Given the description of an element on the screen output the (x, y) to click on. 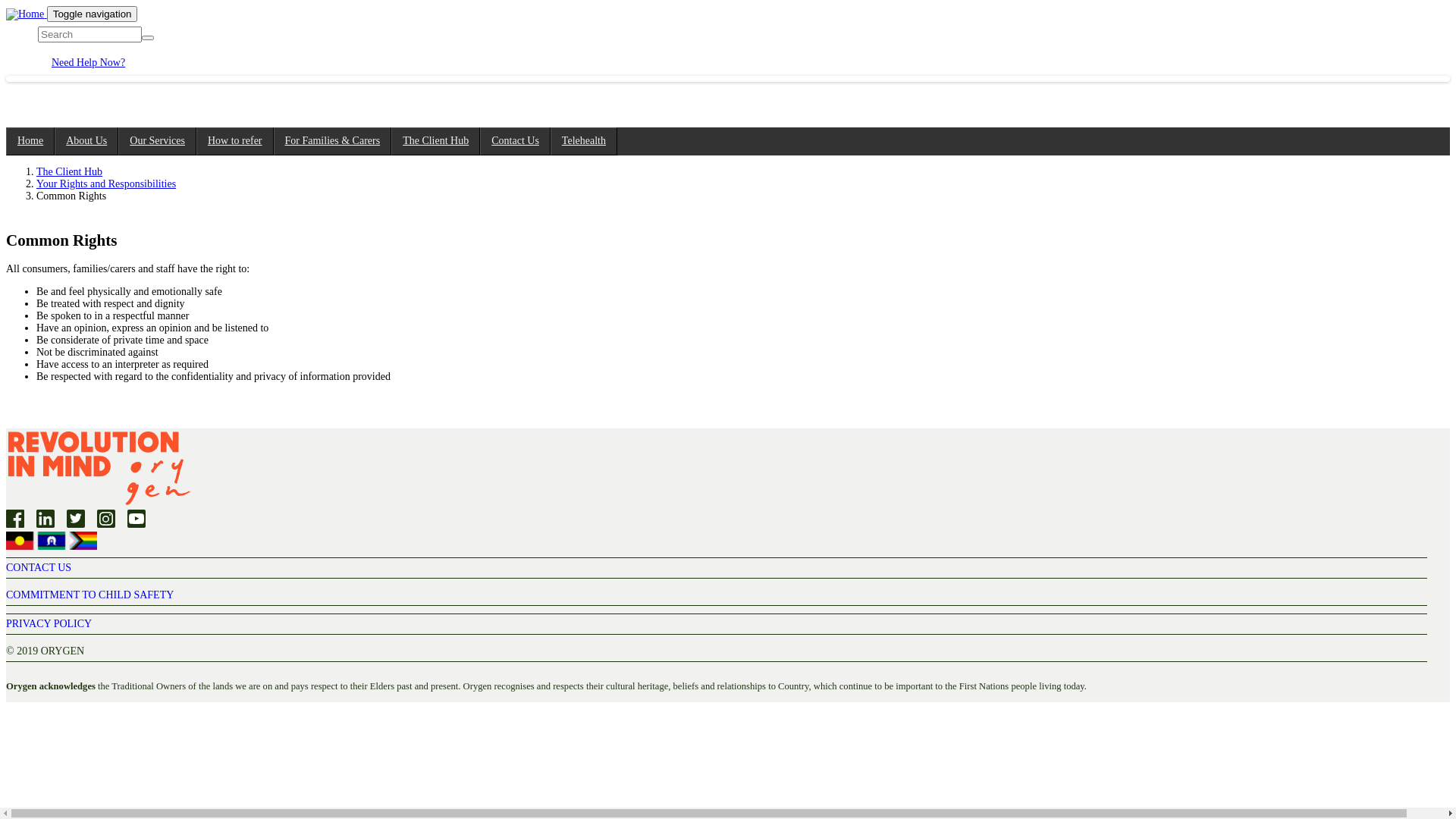
Our Services Element type: text (157, 141)
Toggle navigation Element type: text (92, 13)
How to refer Element type: text (234, 141)
Contact Us Element type: text (515, 141)
Home Element type: text (30, 141)
CONTACT US Element type: text (38, 567)
The Client Hub Element type: text (435, 141)
Your Rights and Responsibilities Element type: text (105, 183)
Need Help Now? Element type: text (88, 62)
Search Element type: text (59, 44)
COMMITMENT TO CHILD SAFETY Element type: text (89, 594)
PRIVACY POLICY Element type: text (48, 623)
Home Element type: hover (26, 13)
Enter the terms you wish to search for. Element type: hover (89, 34)
Skip to main content Element type: text (50, 6)
Telehealth Element type: text (583, 141)
For Families & Carers Element type: text (332, 141)
About Us Element type: text (86, 141)
The Client Hub Element type: text (69, 171)
